Given the description of an element on the screen output the (x, y) to click on. 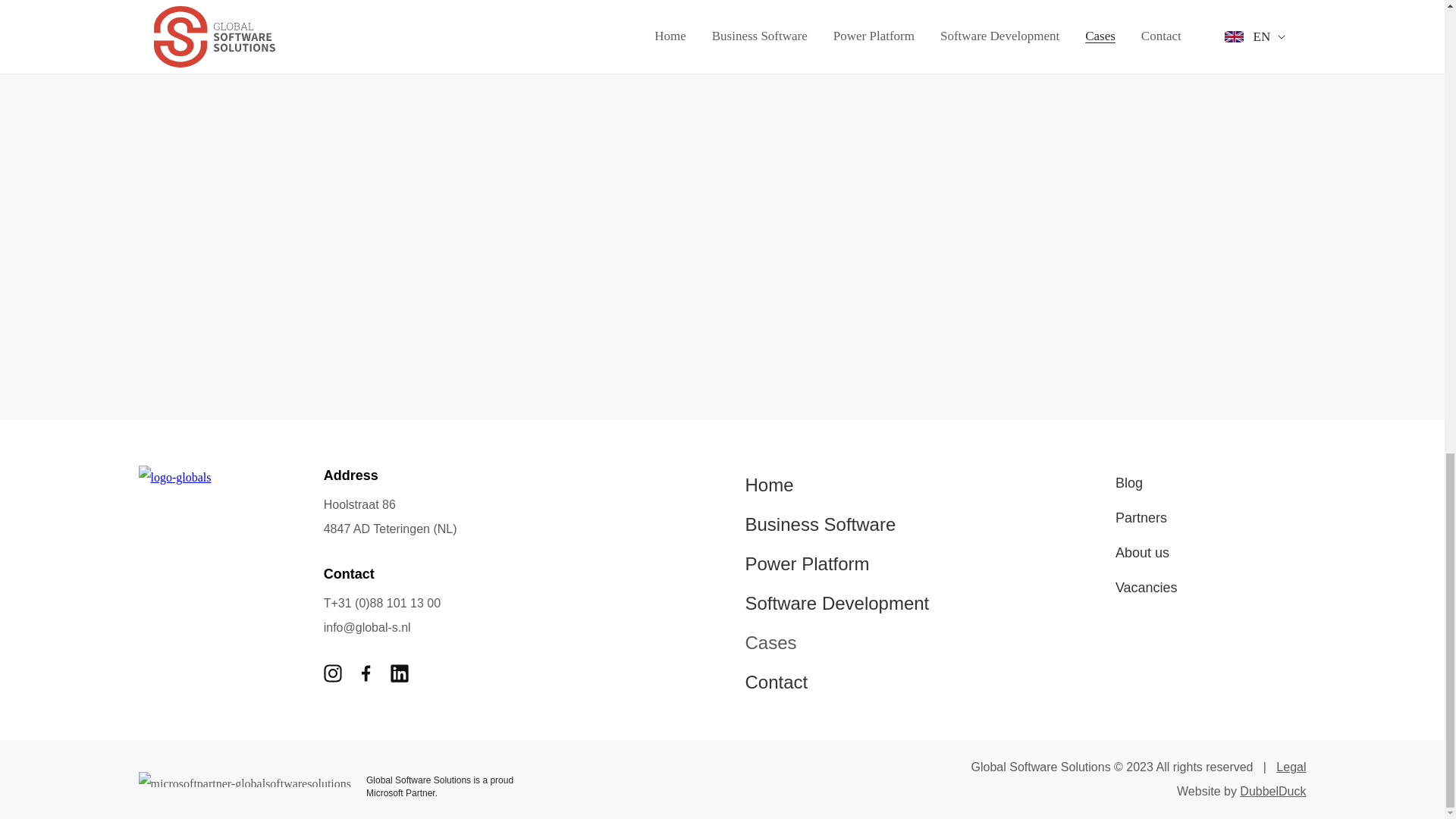
Contact (836, 681)
Vacancies (1146, 587)
Home (836, 485)
Software Development (836, 603)
Business Software (836, 524)
Business Software (836, 524)
Partners (1146, 517)
About us (1146, 552)
View the full case (761, 51)
Cases (836, 642)
